Given the description of an element on the screen output the (x, y) to click on. 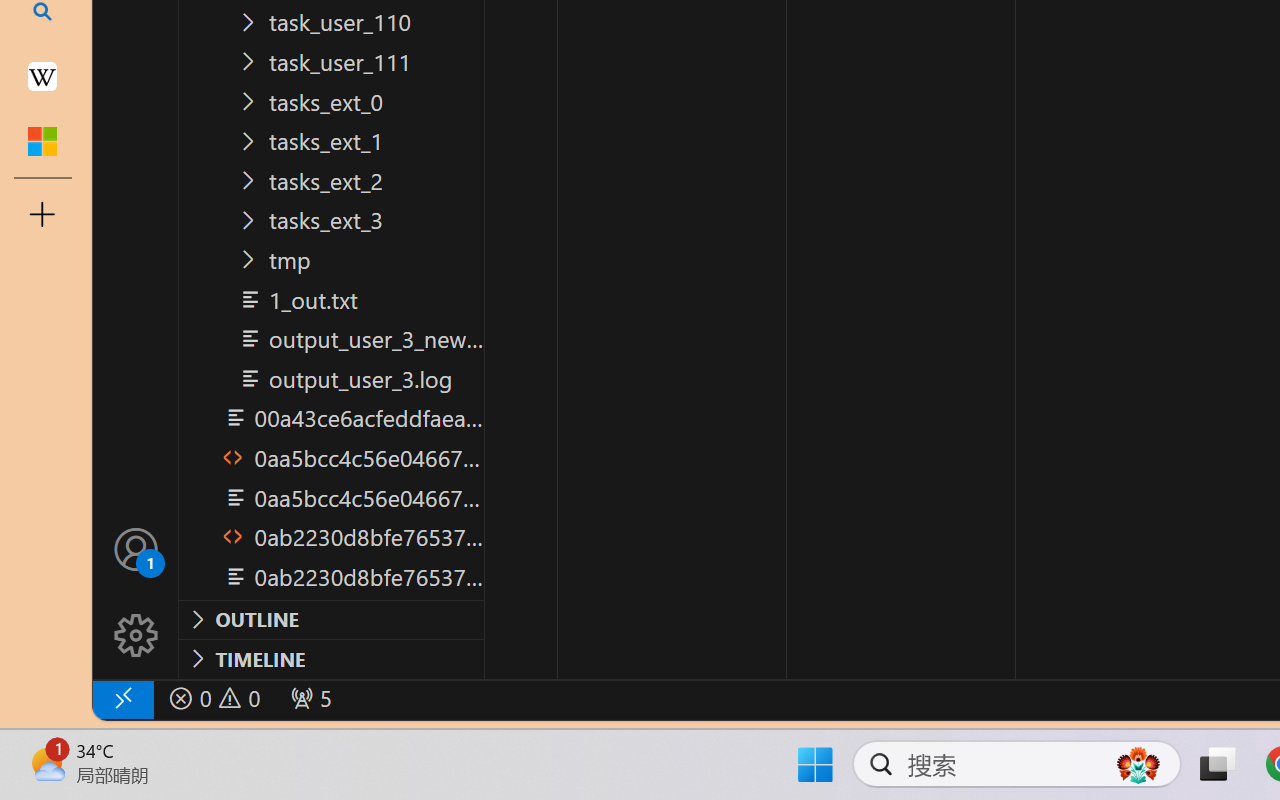
Update License (69, 626)
Account (69, 582)
Options (69, 715)
Feedback (69, 670)
